Given the description of an element on the screen output the (x, y) to click on. 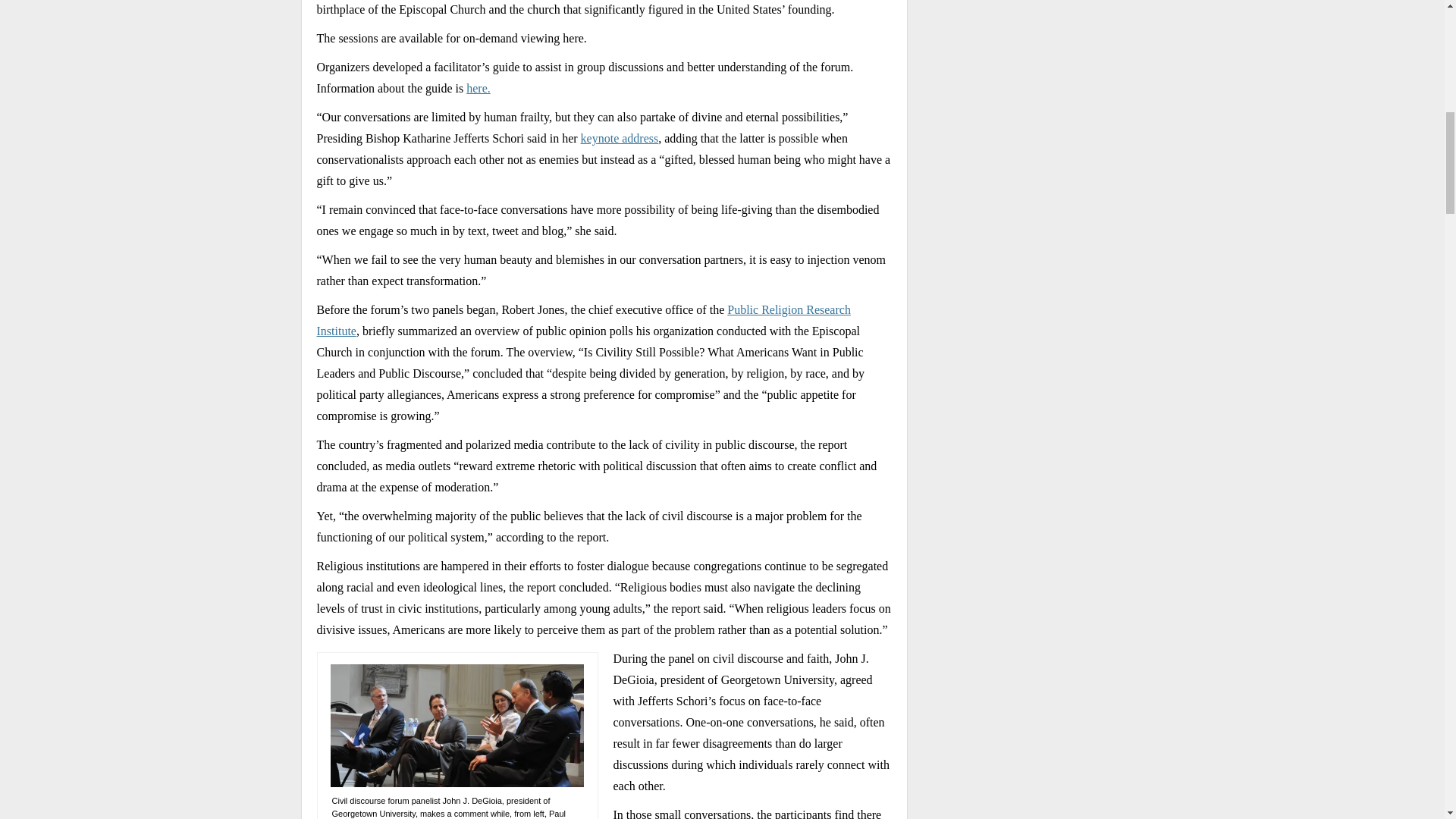
Public Religion Research Institute (583, 320)
keynote address (619, 137)
here. (477, 88)
